Given the description of an element on the screen output the (x, y) to click on. 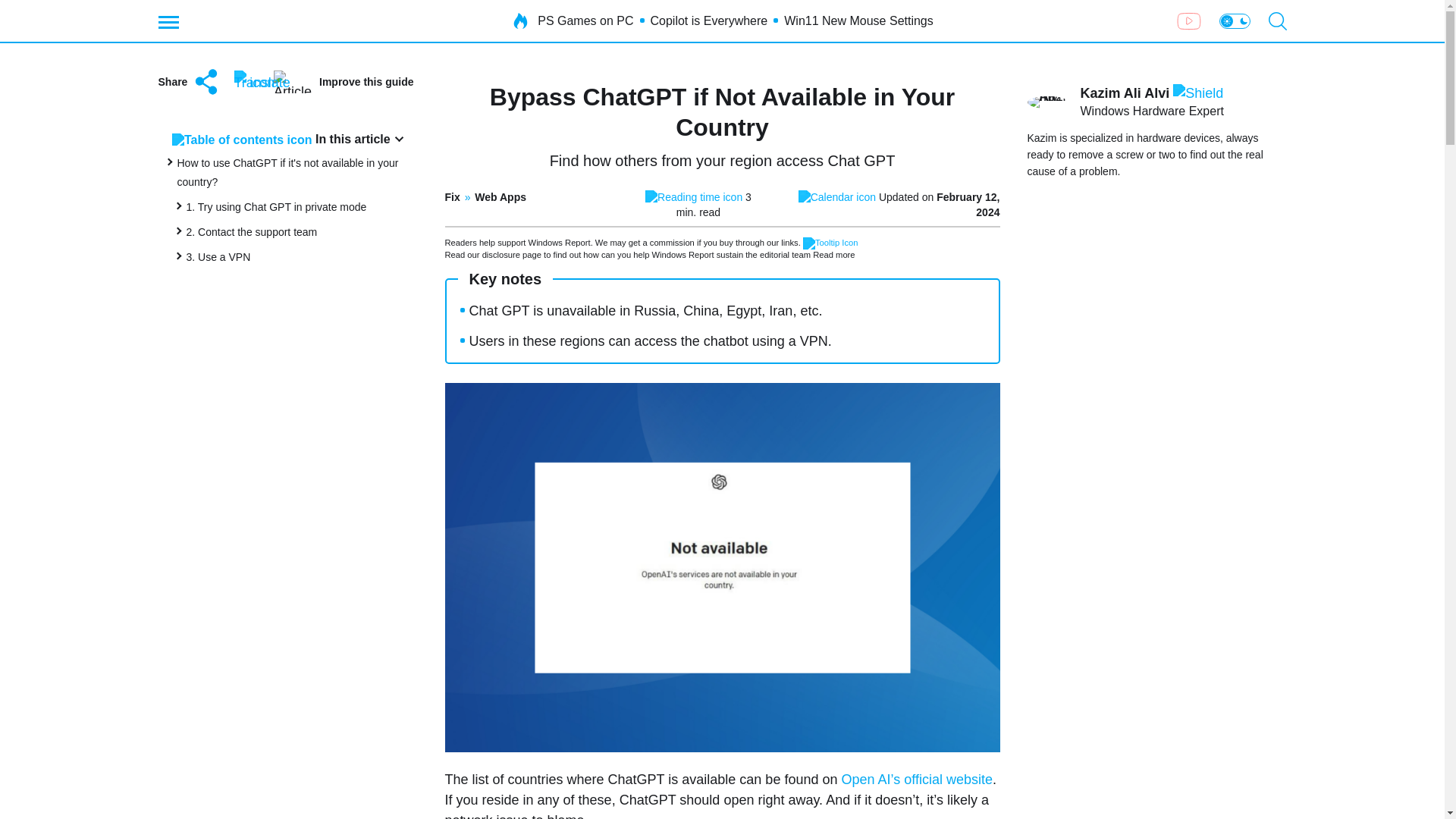
Share this article (189, 81)
Open search bar (1276, 21)
PS Games on PC (585, 21)
3. Use a VPN (218, 256)
2. Contact the support team (251, 232)
Share (189, 81)
Copilot is Everywhere (709, 21)
1. Try using Chat GPT in private mode (276, 206)
How to use ChatGPT if it's not available in your country? (287, 172)
Win11 New Mouse Settings (858, 21)
